Given the description of an element on the screen output the (x, y) to click on. 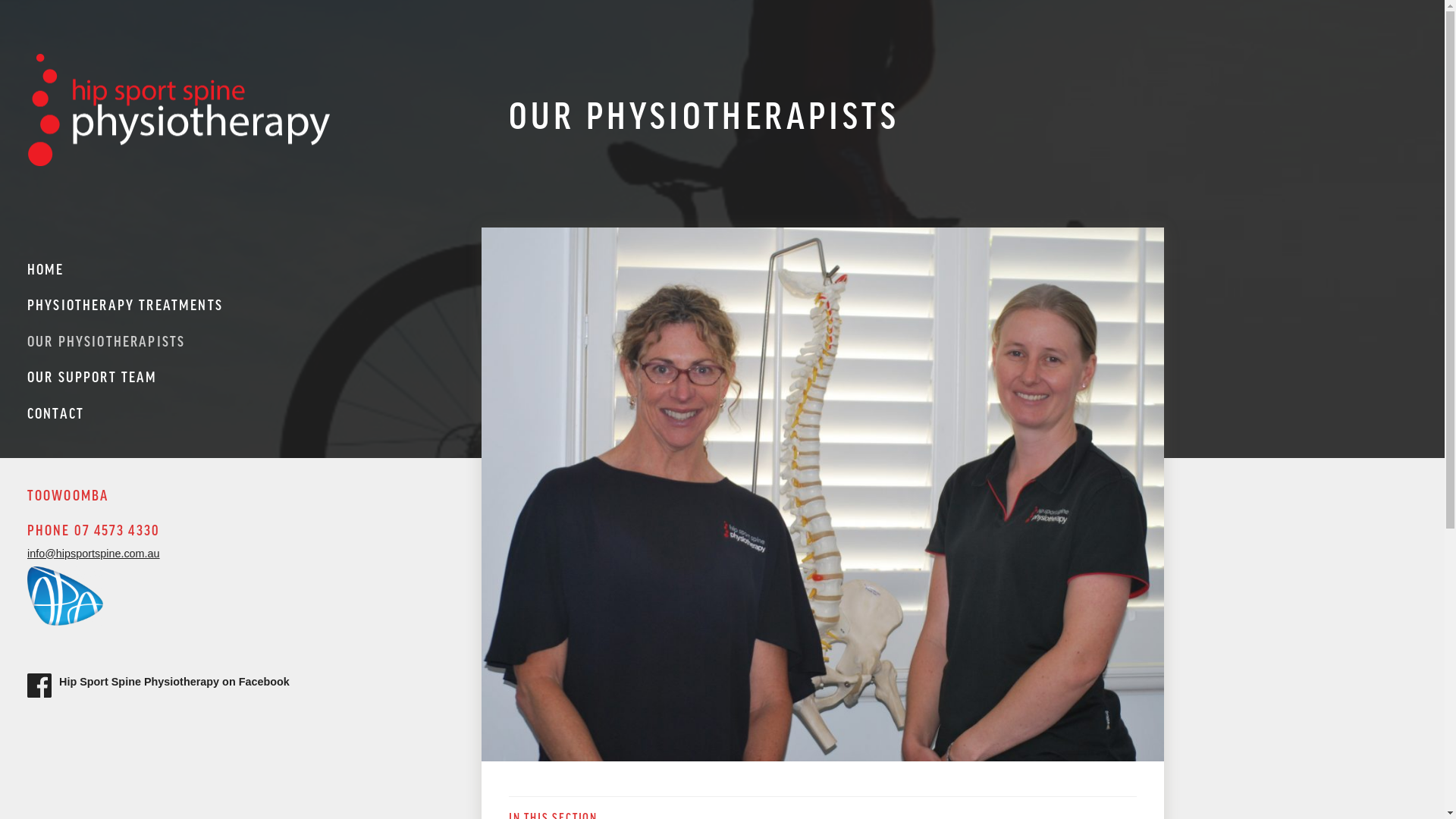
PHYSIOTHERAPY TREATMENTS Element type: text (240, 304)
Hip Sport Spine Physiotherapy on Facebook Element type: text (174, 681)
OUR PHYSIOTHERAPISTS Element type: text (240, 340)
info@hipsportspine.com.au Element type: text (93, 553)
HOME Element type: text (240, 270)
OUR SUPPORT TEAM Element type: text (240, 376)
CONTACT Element type: text (240, 412)
